Given the description of an element on the screen output the (x, y) to click on. 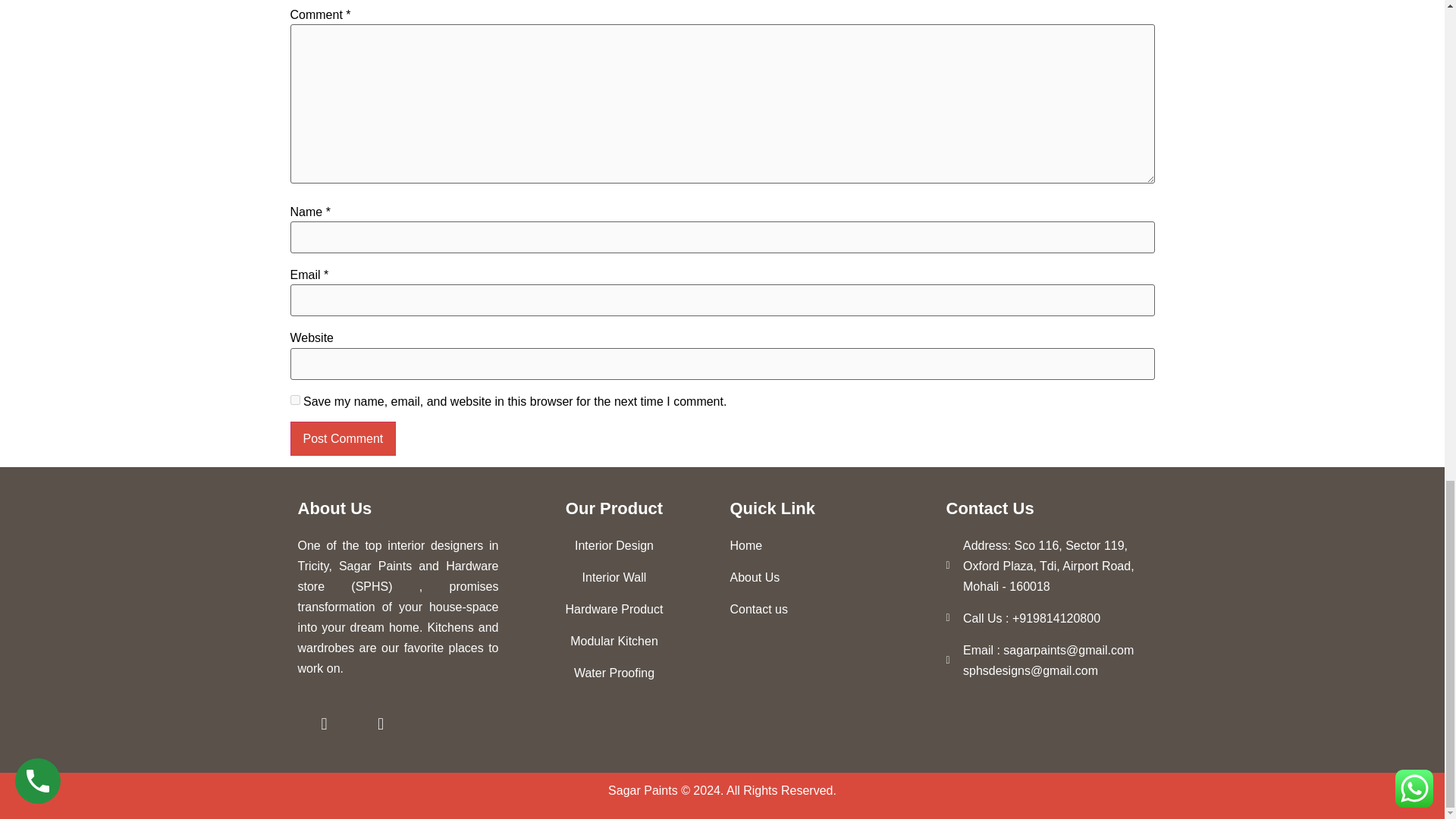
Interior Design (613, 545)
Interior Wall (613, 577)
Contact us (829, 608)
Modular Kitchen (613, 640)
About Us (829, 577)
Post Comment (342, 438)
Water Proofing (613, 672)
yes (294, 399)
Hardware Product (613, 608)
Post Comment (342, 438)
Home (829, 545)
